Given the description of an element on the screen output the (x, y) to click on. 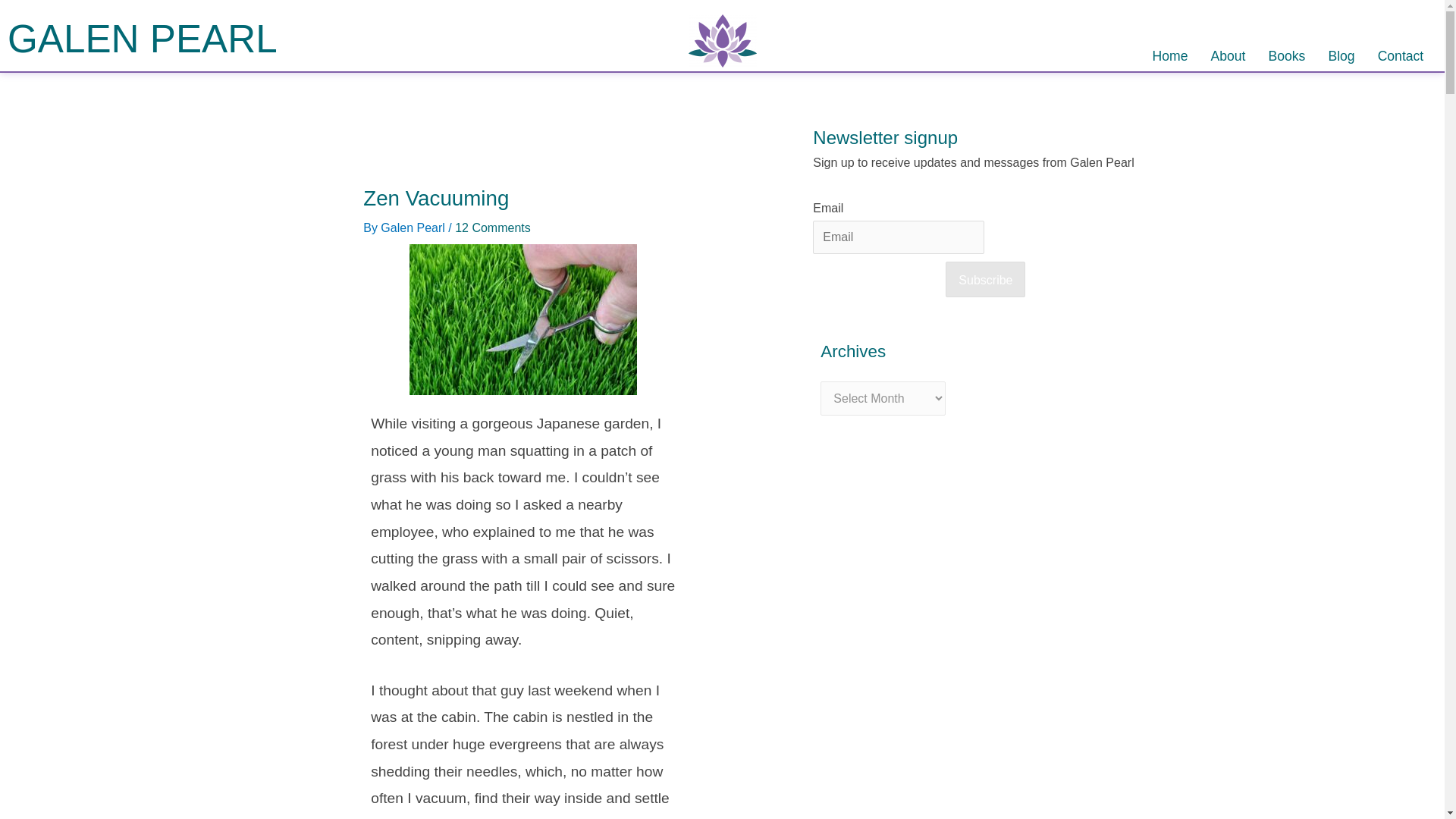
Lotus (722, 40)
Galen Pearl (414, 227)
Home (1170, 56)
Blog (1340, 56)
Contact (1401, 56)
View all posts by Galen Pearl (414, 227)
12 Comments (492, 227)
Books (1287, 56)
About (1228, 56)
Subscribe (984, 279)
